Given the description of an element on the screen output the (x, y) to click on. 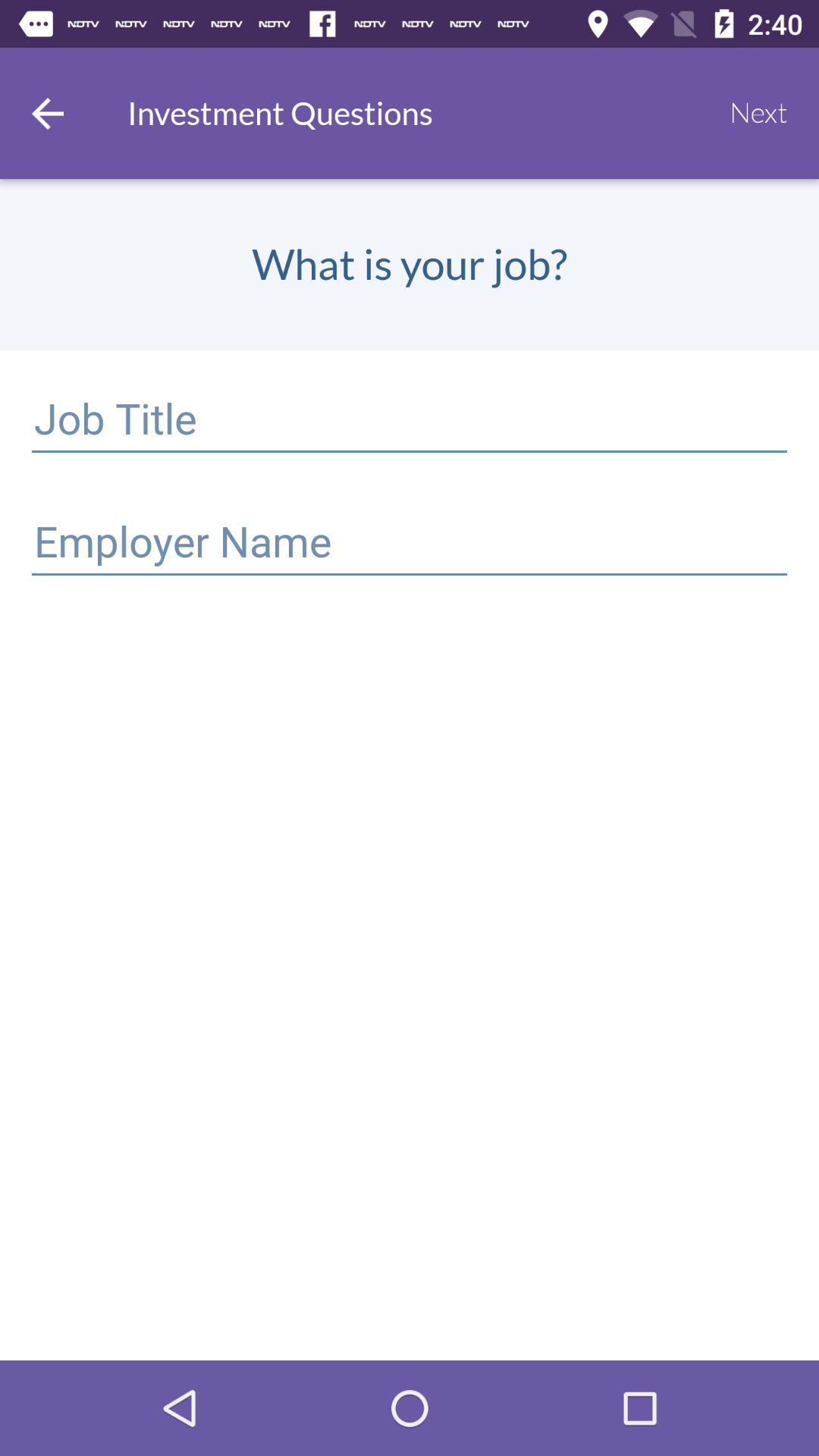
open item at the top left corner (47, 113)
